Given the description of an element on the screen output the (x, y) to click on. 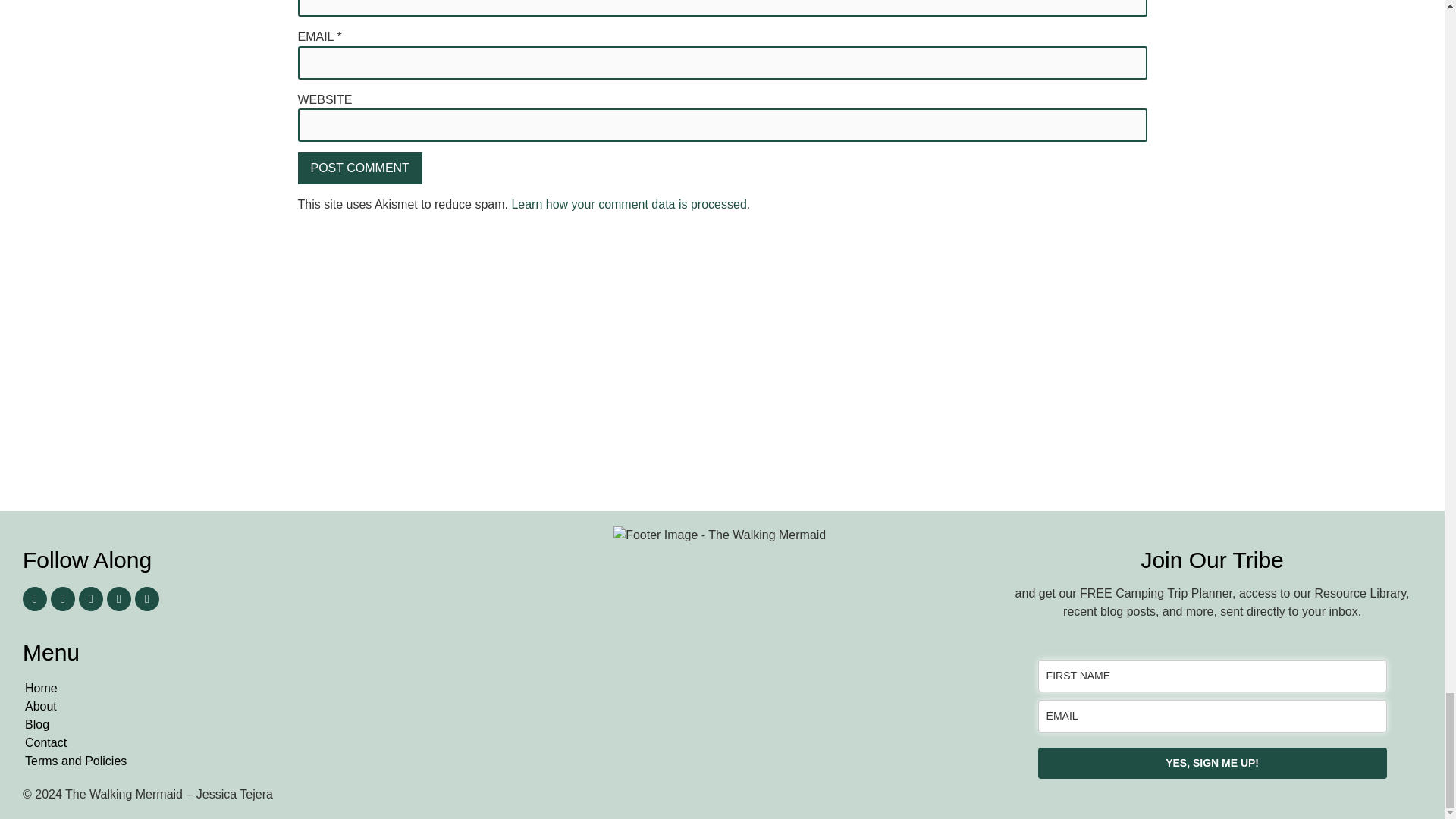
Post Comment (359, 168)
